Given the description of an element on the screen output the (x, y) to click on. 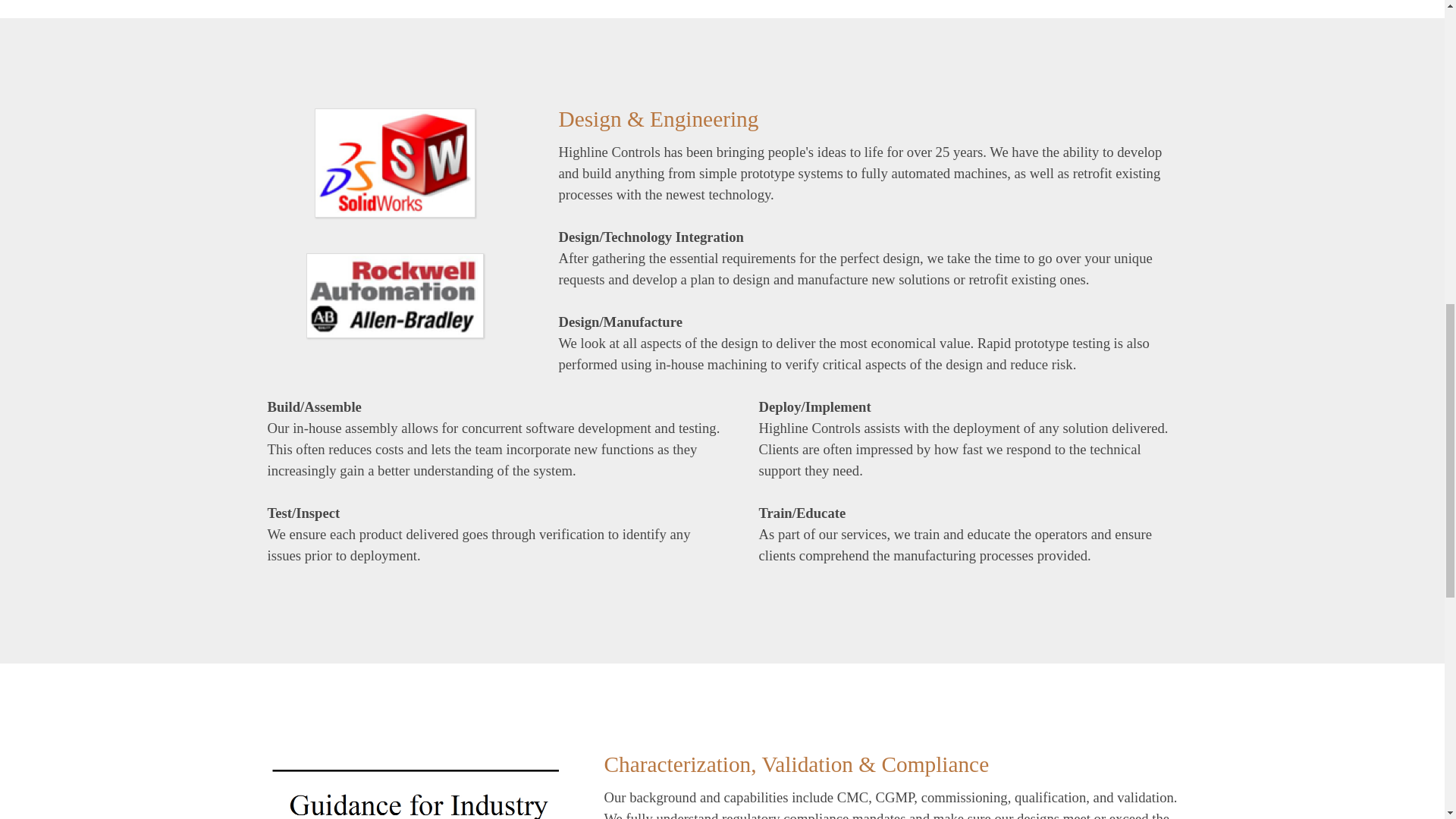
Solid Works (394, 162)
Guidance (416, 790)
Rockwell Automation Allen-Bradley (394, 295)
